Given the description of an element on the screen output the (x, y) to click on. 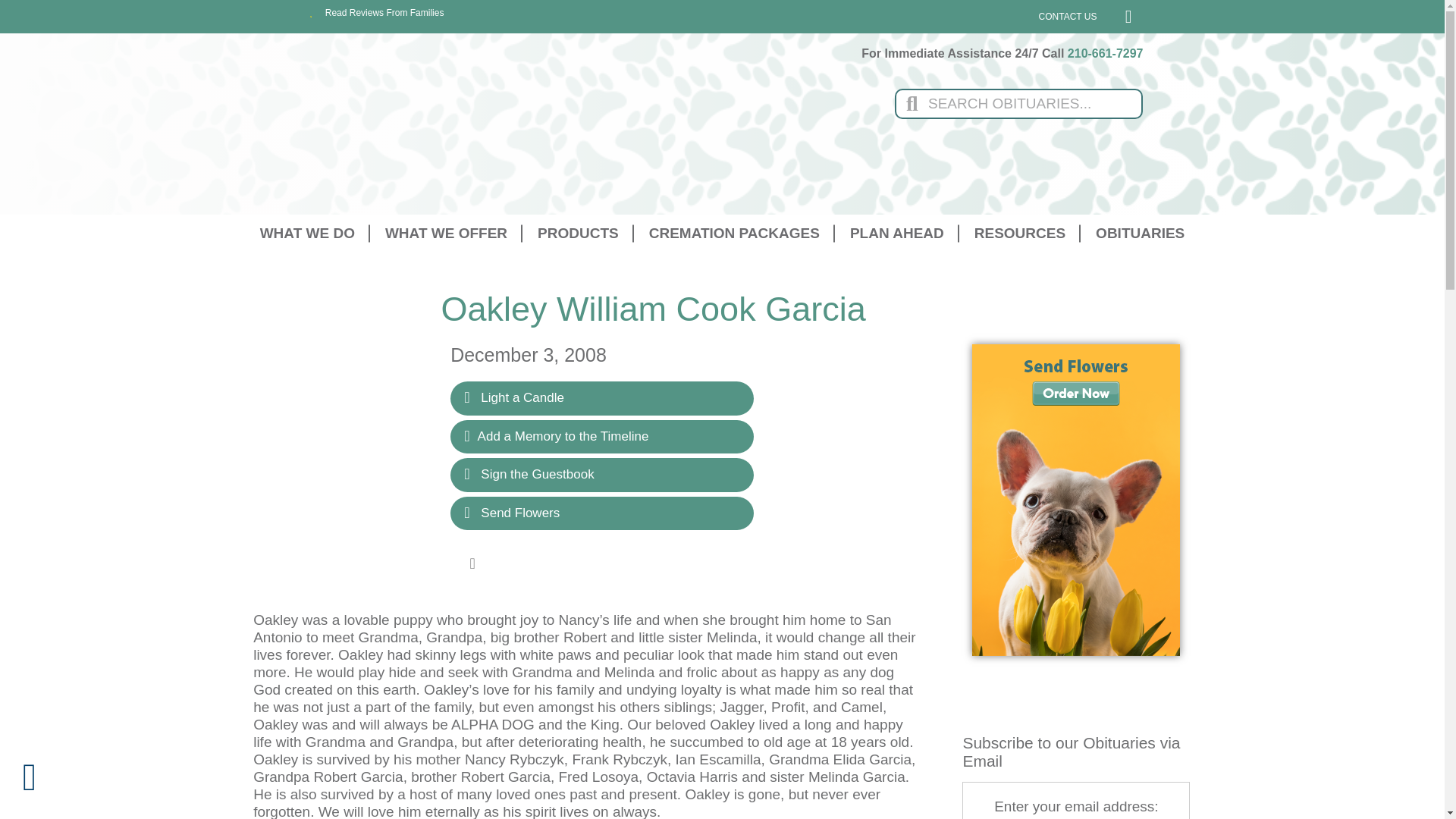
CONTACT US (1068, 16)
RESOURCES (1019, 232)
Facebook Page (1121, 16)
Read Reviews From Families (376, 12)
210-661-7297 (1104, 52)
Print (472, 562)
OBITUARIES (1139, 232)
PLAN AHEAD (896, 232)
CREMATION PACKAGES (733, 232)
PRODUCTS (577, 232)
WHAT WE OFFER (445, 232)
WHAT WE DO (306, 232)
